Given the description of an element on the screen output the (x, y) to click on. 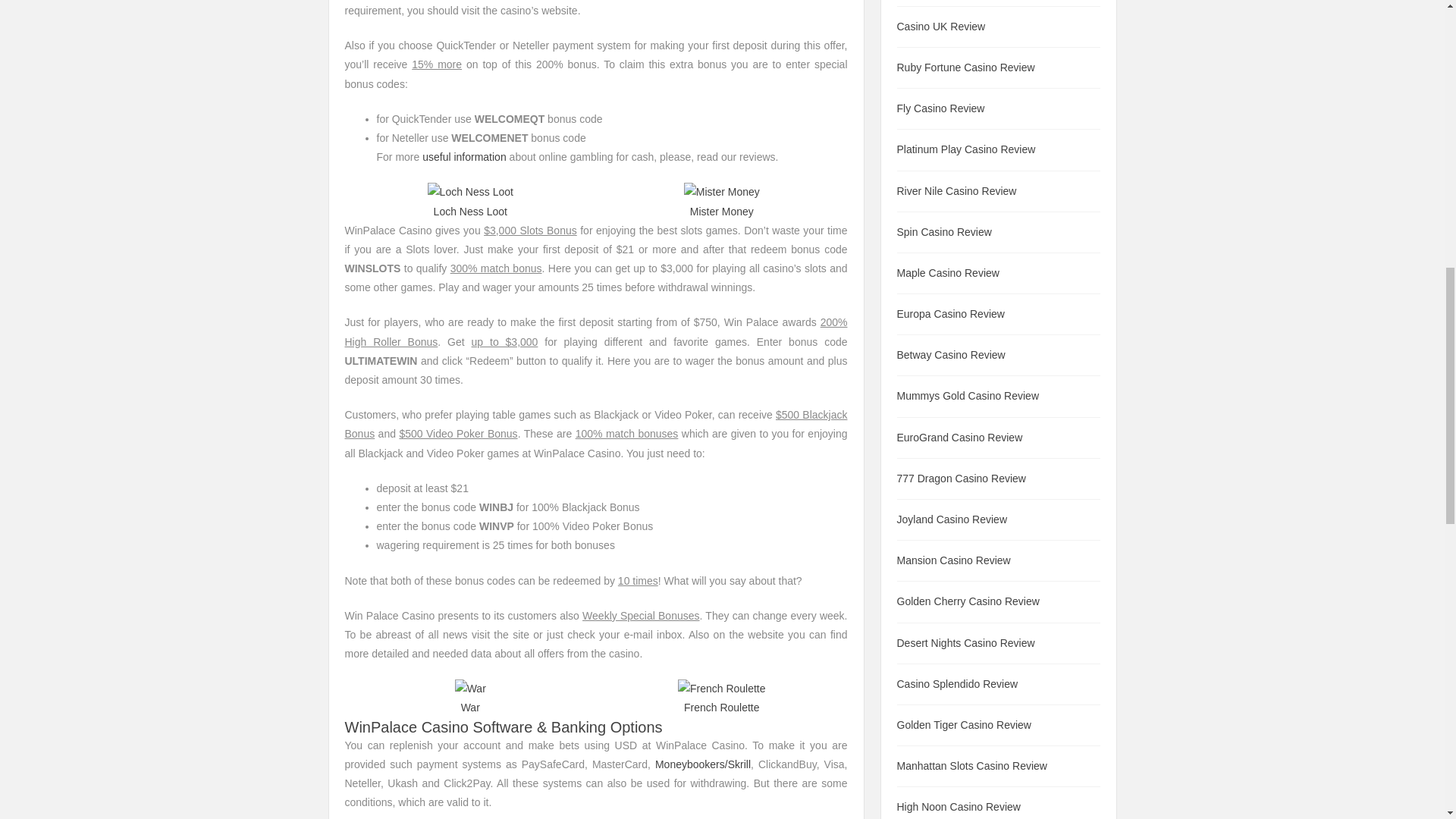
online gambling for cash (464, 156)
Casino UK Review (940, 26)
useful information (464, 156)
Mister Money (722, 211)
Loch Ness Loot (469, 211)
War (470, 707)
Platinum Play Casino Review (965, 149)
French Roulette (722, 707)
River Nile Casino Review (956, 191)
Fly Casino Review (940, 108)
